Given the description of an element on the screen output the (x, y) to click on. 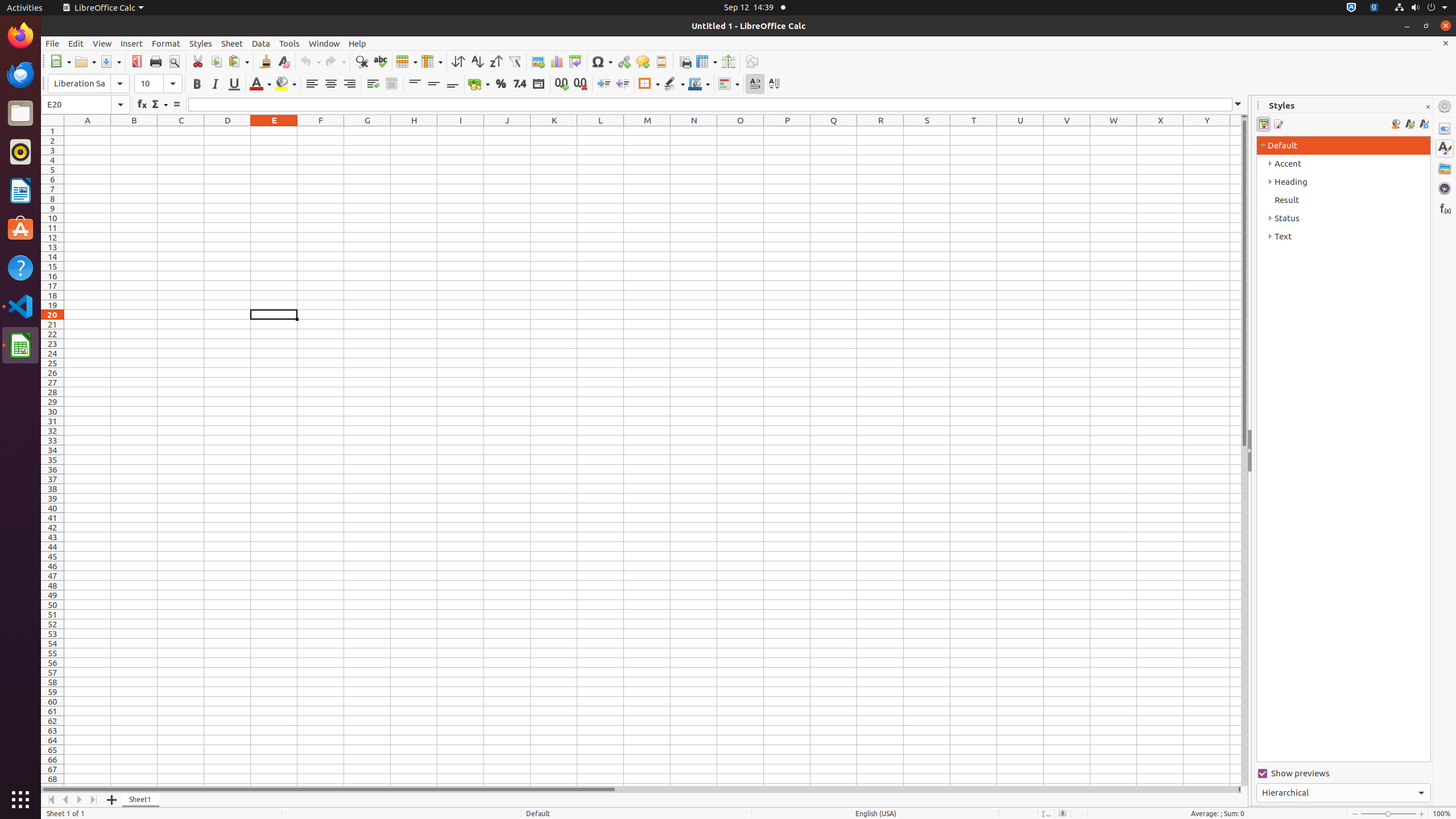
File Element type: menu (51, 43)
Move Right Element type: push-button (79, 799)
LibreOffice Writer Element type: push-button (20, 190)
Select Function Element type: push-button (159, 104)
